Given the description of an element on the screen output the (x, y) to click on. 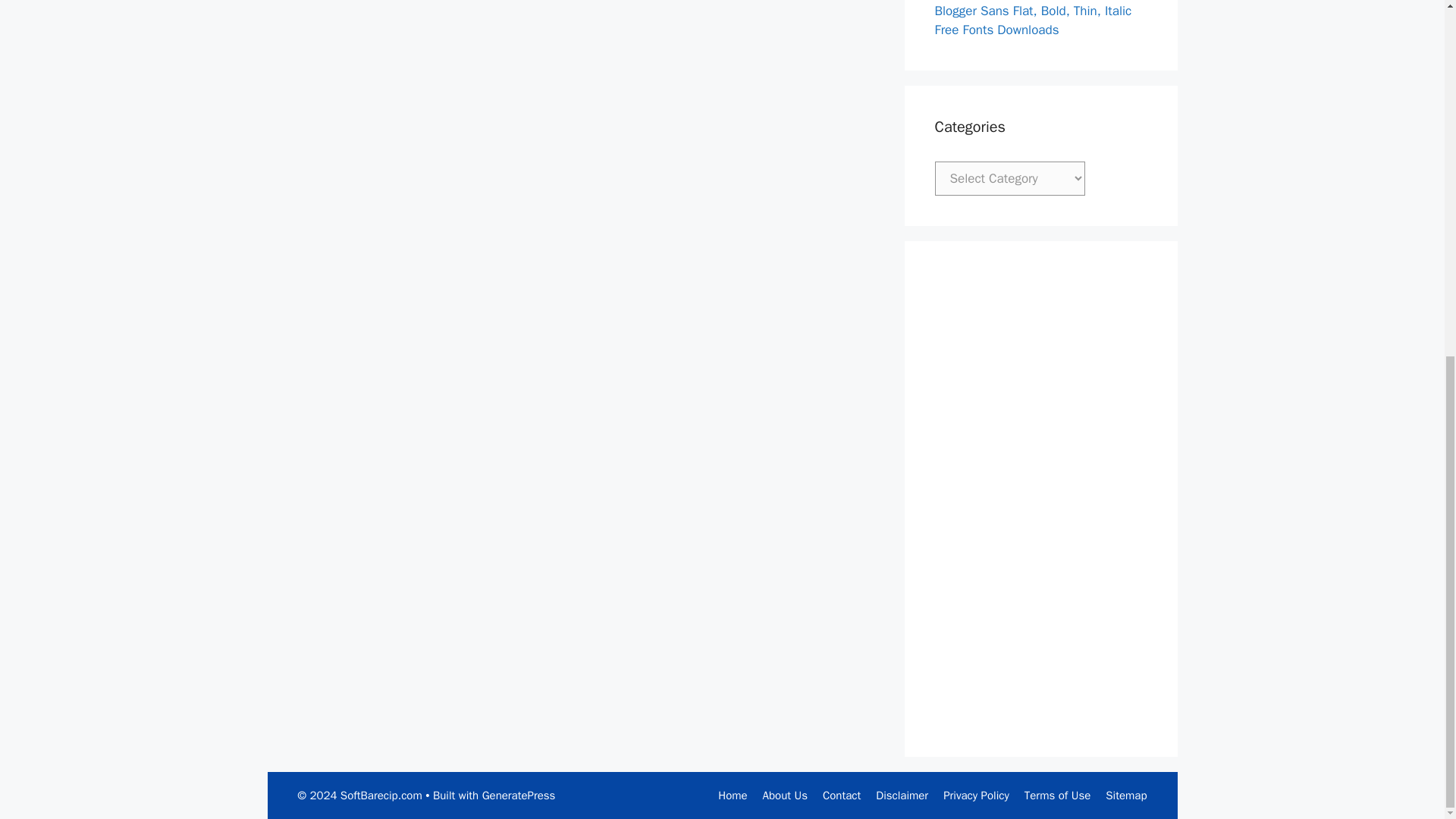
Contact (841, 794)
About Us (785, 794)
Blogger Sans Flat, Bold, Thin, Italic Free Fonts Downloads (1032, 19)
Home (731, 794)
